Given the description of an element on the screen output the (x, y) to click on. 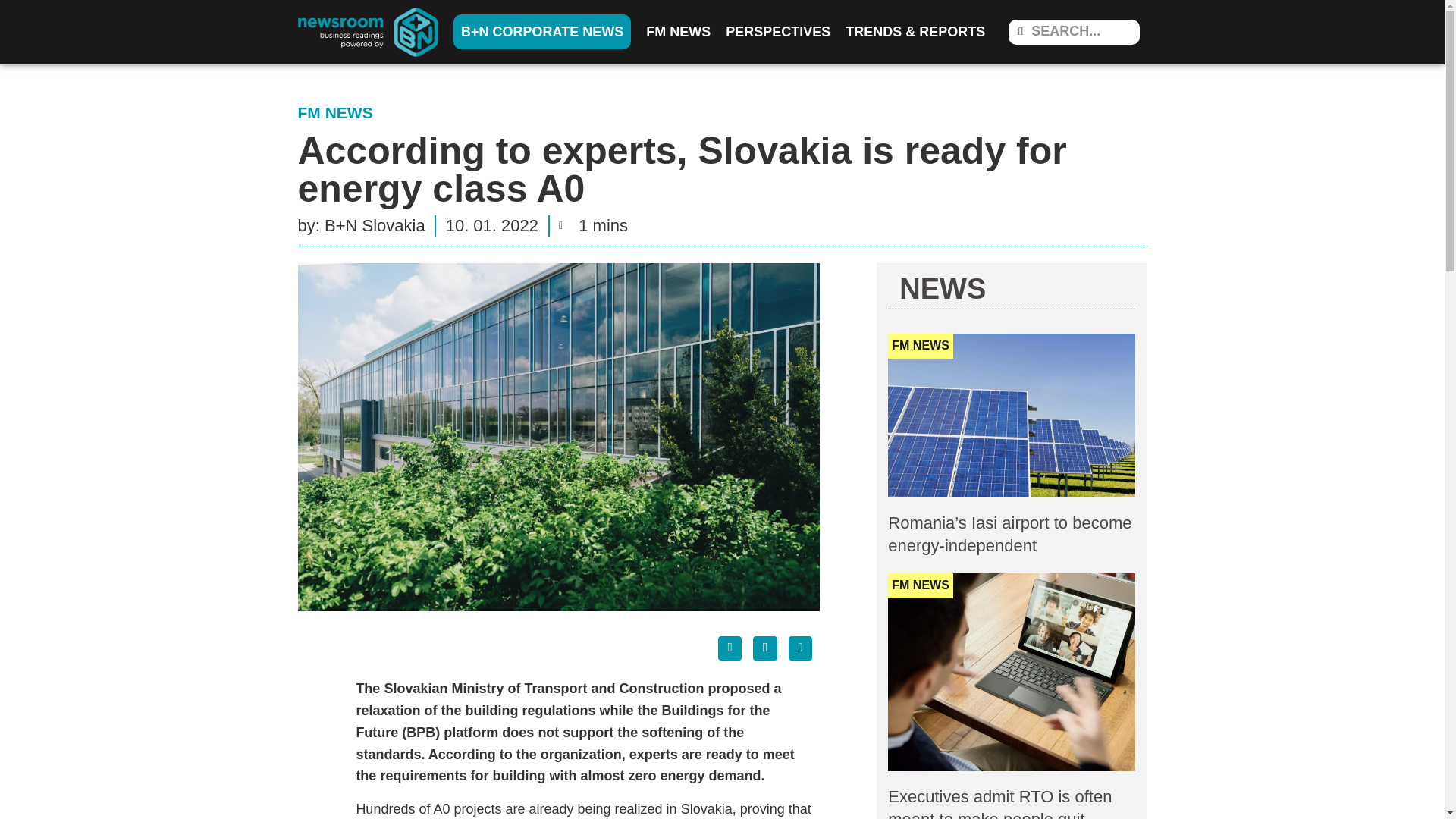
FM NEWS (678, 31)
Search (1081, 31)
Executives admit RTO is often meant to make people quit (1000, 803)
FM NEWS (920, 585)
FM NEWS (920, 345)
PERSPECTIVES (777, 31)
FM NEWS (334, 112)
